Given the description of an element on the screen output the (x, y) to click on. 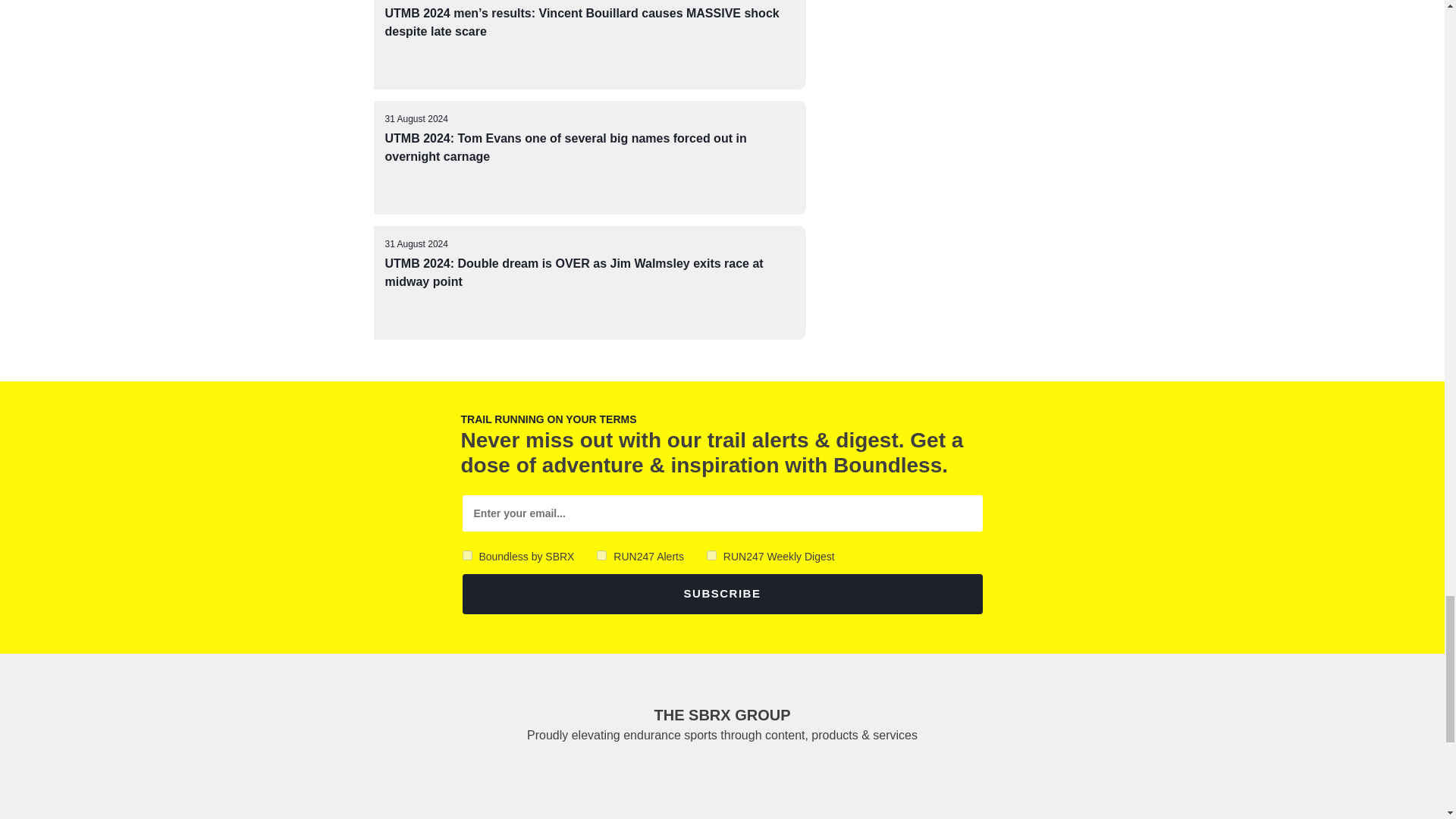
112249859182954455 (711, 555)
SUBSCRIBE (722, 594)
112248685787612192 (601, 555)
112249833813705994 (467, 555)
